Given the description of an element on the screen output the (x, y) to click on. 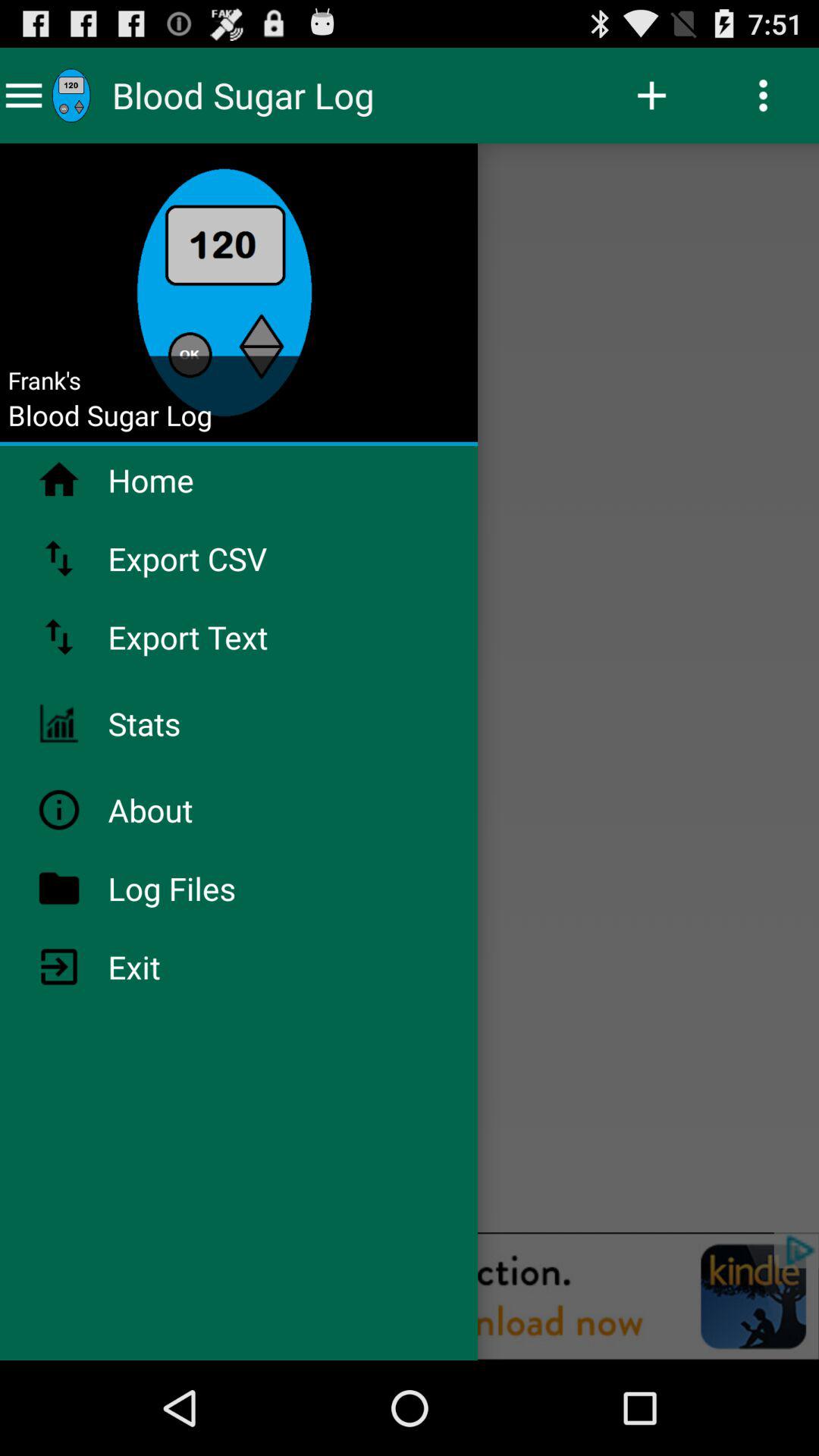
flip until the log files (211, 888)
